Given the description of an element on the screen output the (x, y) to click on. 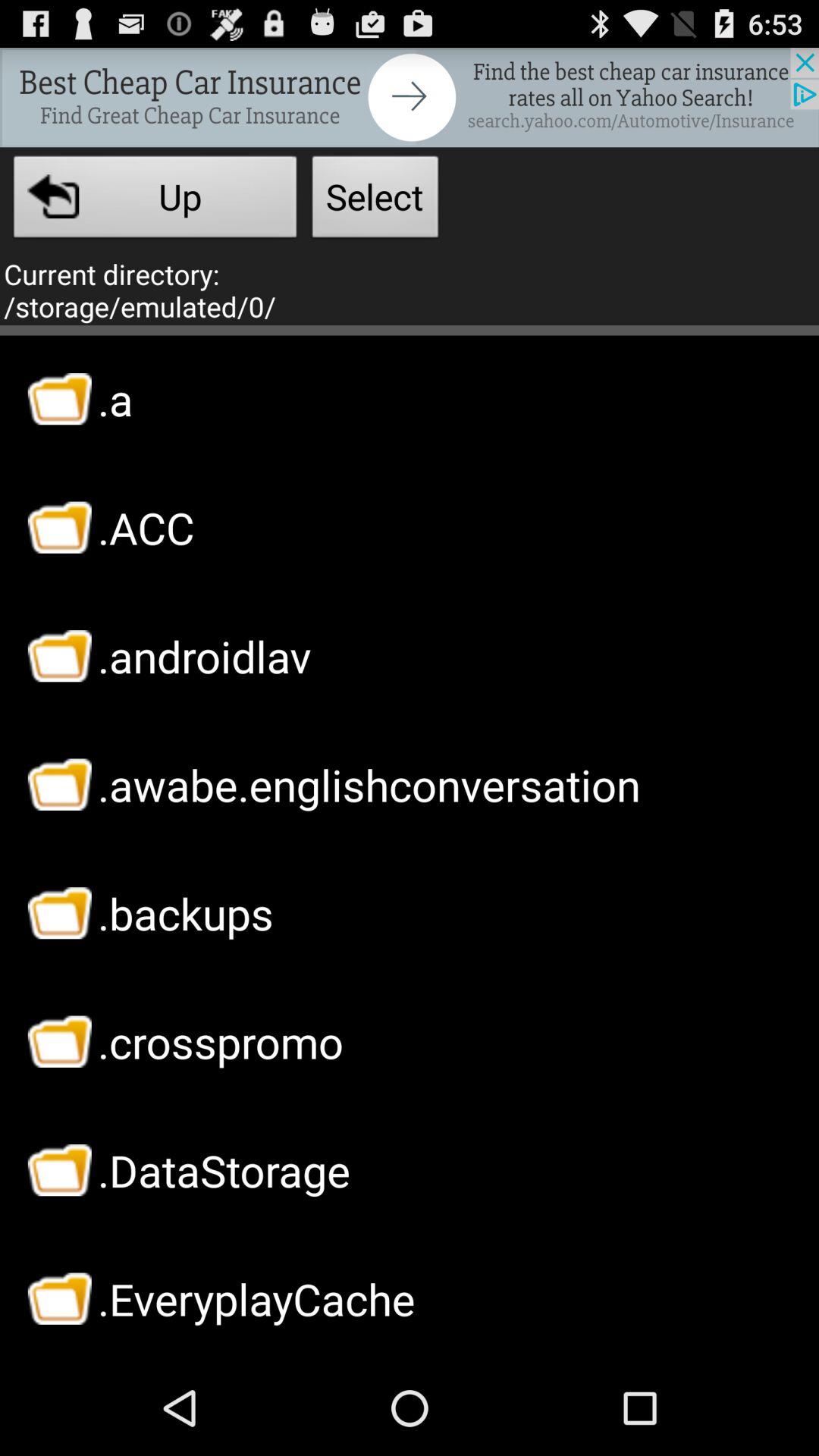
click on the button which is left side of the select (154, 201)
click on select (375, 201)
